Given the description of an element on the screen output the (x, y) to click on. 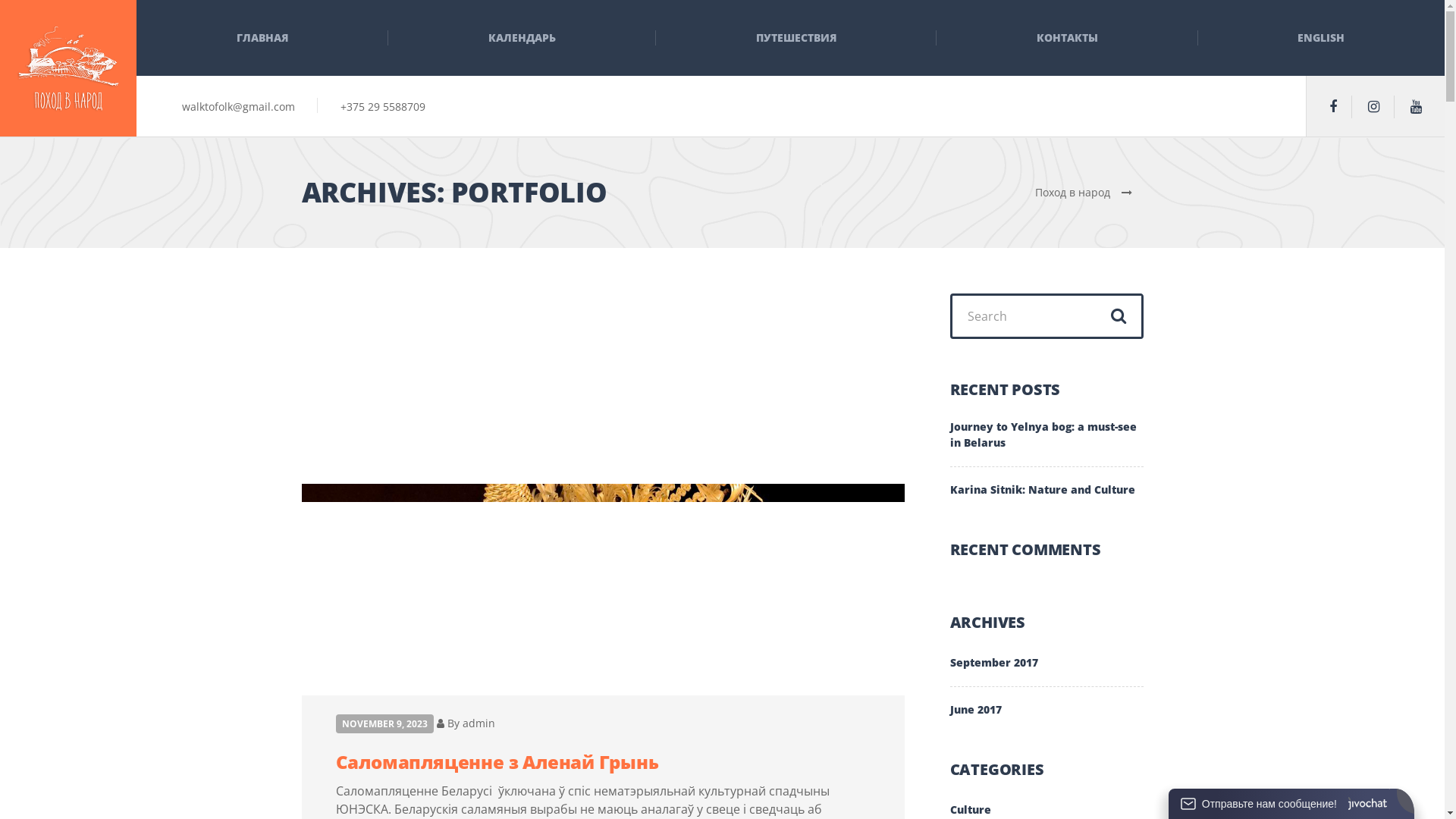
Journey to Yelnya bog: a must-see in Belarus Element type: text (1044, 442)
Karina Sitnik: Nature and Culture Element type: text (1041, 482)
NOVEMBER 9, 2023 Element type: text (384, 722)
June 2017 Element type: text (975, 702)
September 2017 Element type: text (993, 670)
ENGLISH Element type: text (1321, 37)
